Given the description of an element on the screen output the (x, y) to click on. 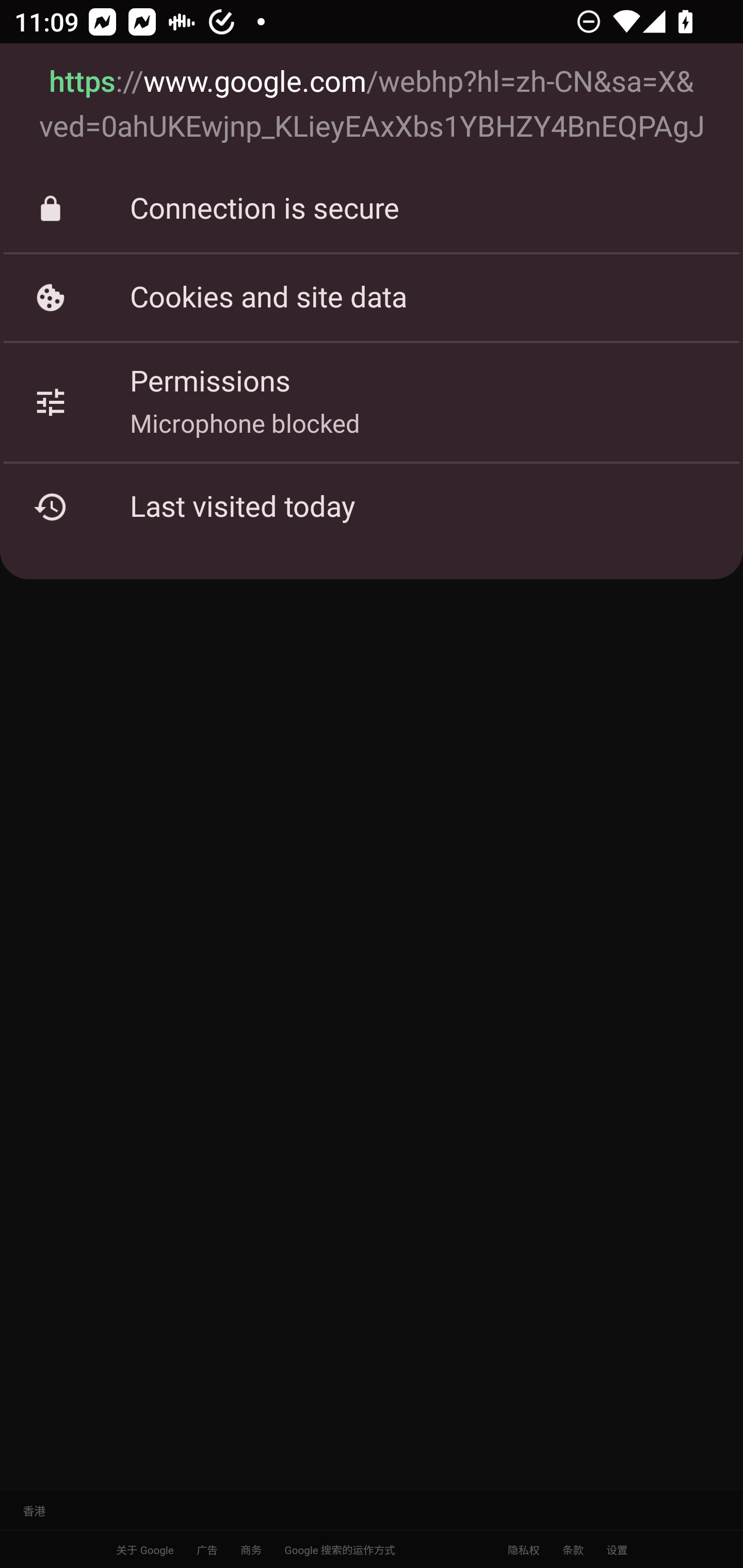
Connection is secure (371, 209)
Cookies and site data (371, 297)
Permissions Microphone blocked (371, 401)
Last visited today (371, 507)
